Given the description of an element on the screen output the (x, y) to click on. 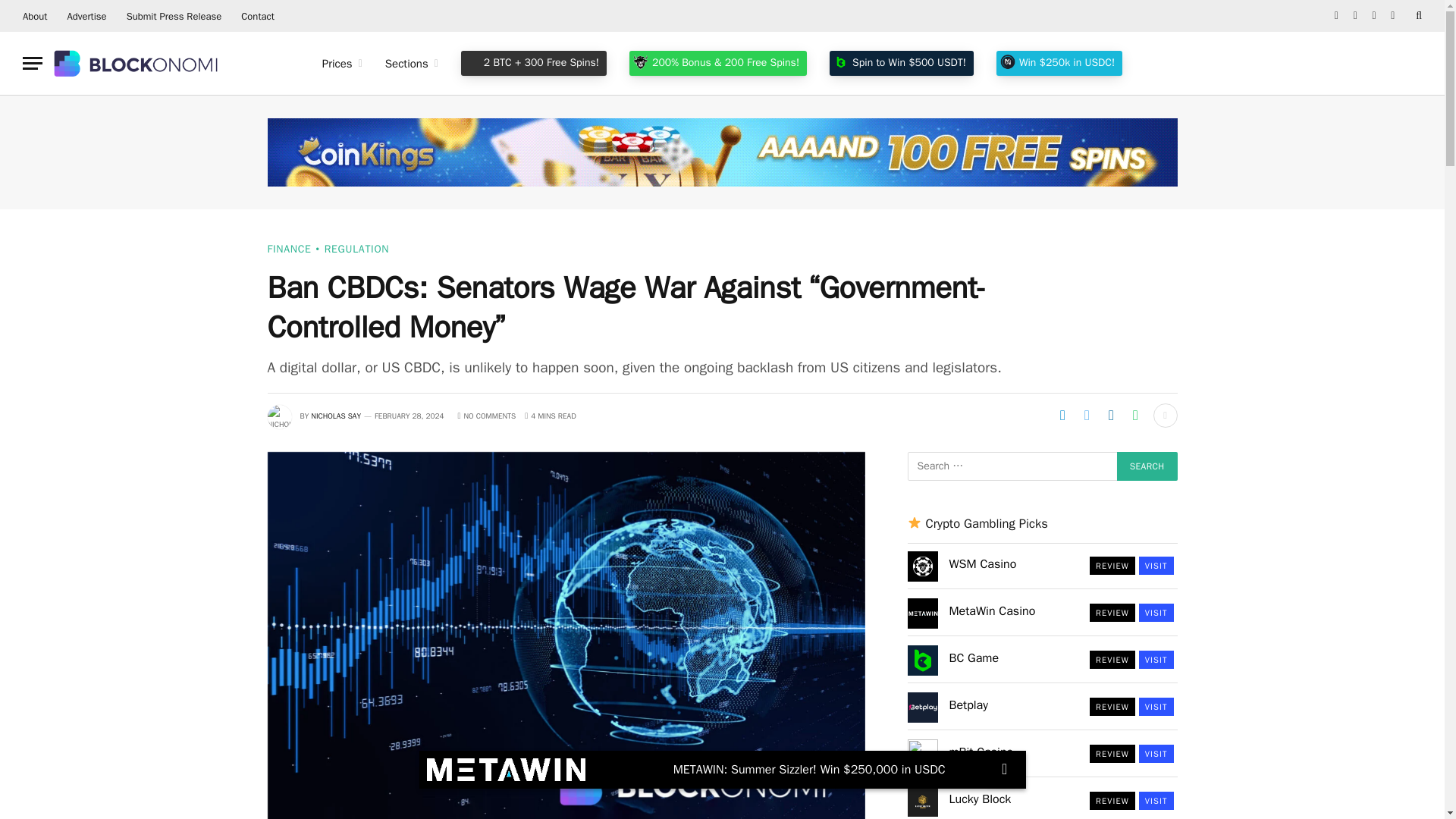
Advertise (86, 15)
Sections (411, 63)
Submit Press Release (173, 15)
Contact (257, 15)
About (34, 15)
Blockonomi (137, 62)
Share on WhatsApp (1135, 415)
Share on LinkedIn (1110, 415)
Show More Social Sharing (1164, 415)
Posts by Nicholas Say (336, 415)
Search (1146, 466)
Share on Telegram (1062, 415)
Search (1146, 466)
Prices (342, 63)
